Given the description of an element on the screen output the (x, y) to click on. 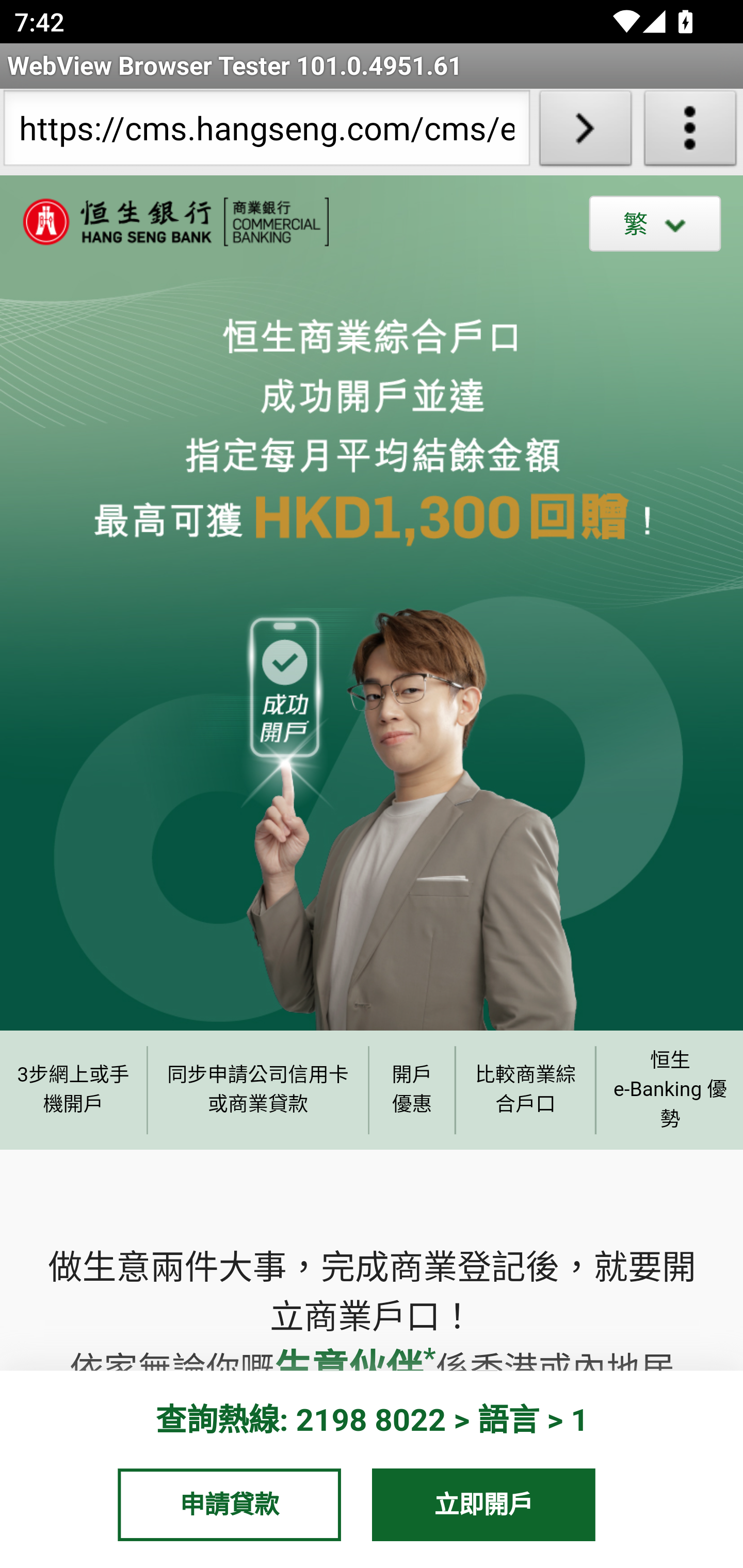
Load URL (585, 132)
About WebView (690, 132)
home (164, 222)
繁  繁    (655, 223)
恒生e‑Banking 優勢 (669, 1089)
3步網上或手機開戶 (73, 1089)
同步申請公司信用卡或商業貸款 (257, 1089)
開戶優惠 (411, 1089)
比較商業綜合戶口 (525, 1089)
申請貸款 (229, 1504)
立即開戶 (484, 1504)
